Given the description of an element on the screen output the (x, y) to click on. 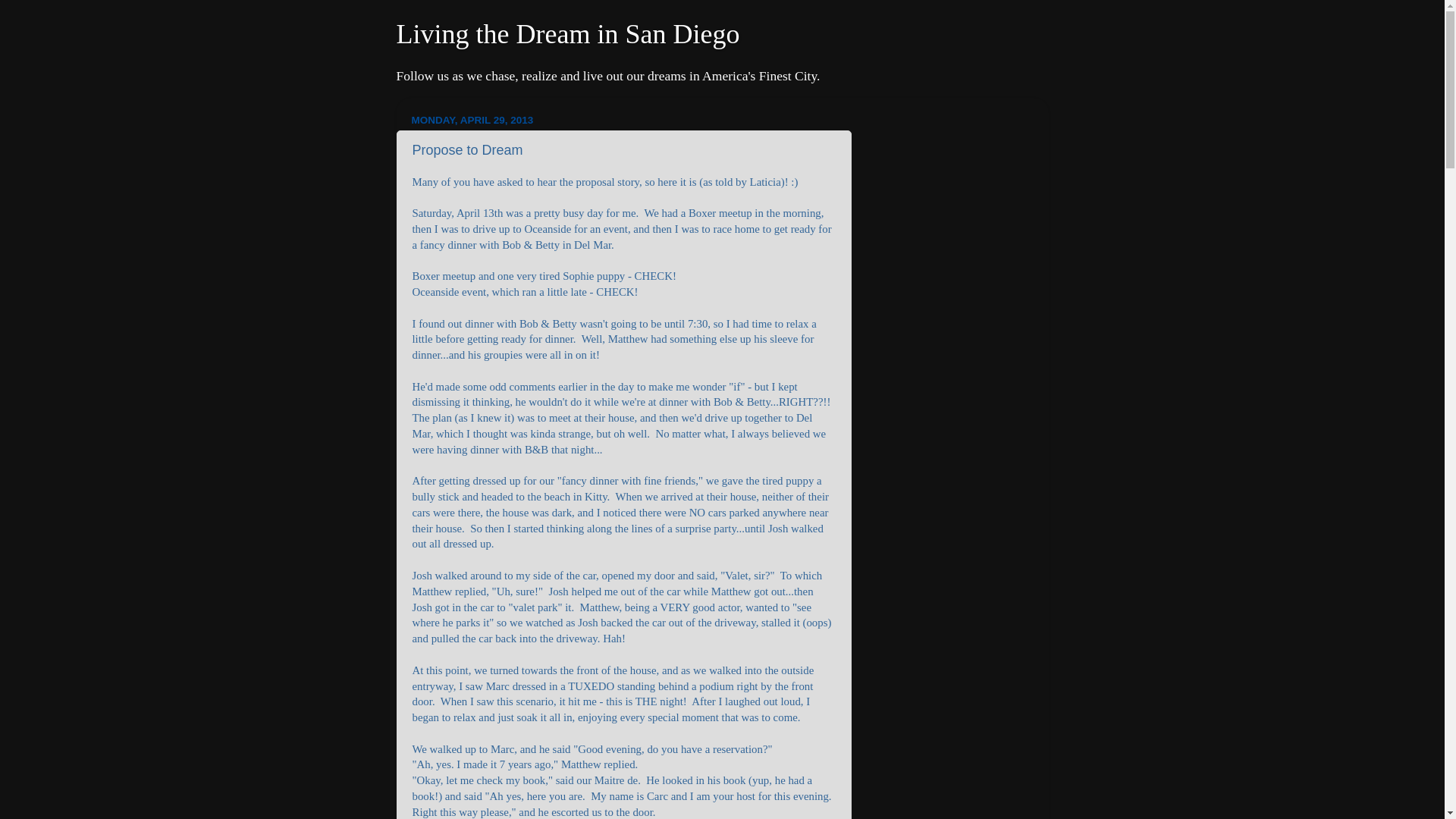
Living the Dream in San Diego (567, 33)
